Given the description of an element on the screen output the (x, y) to click on. 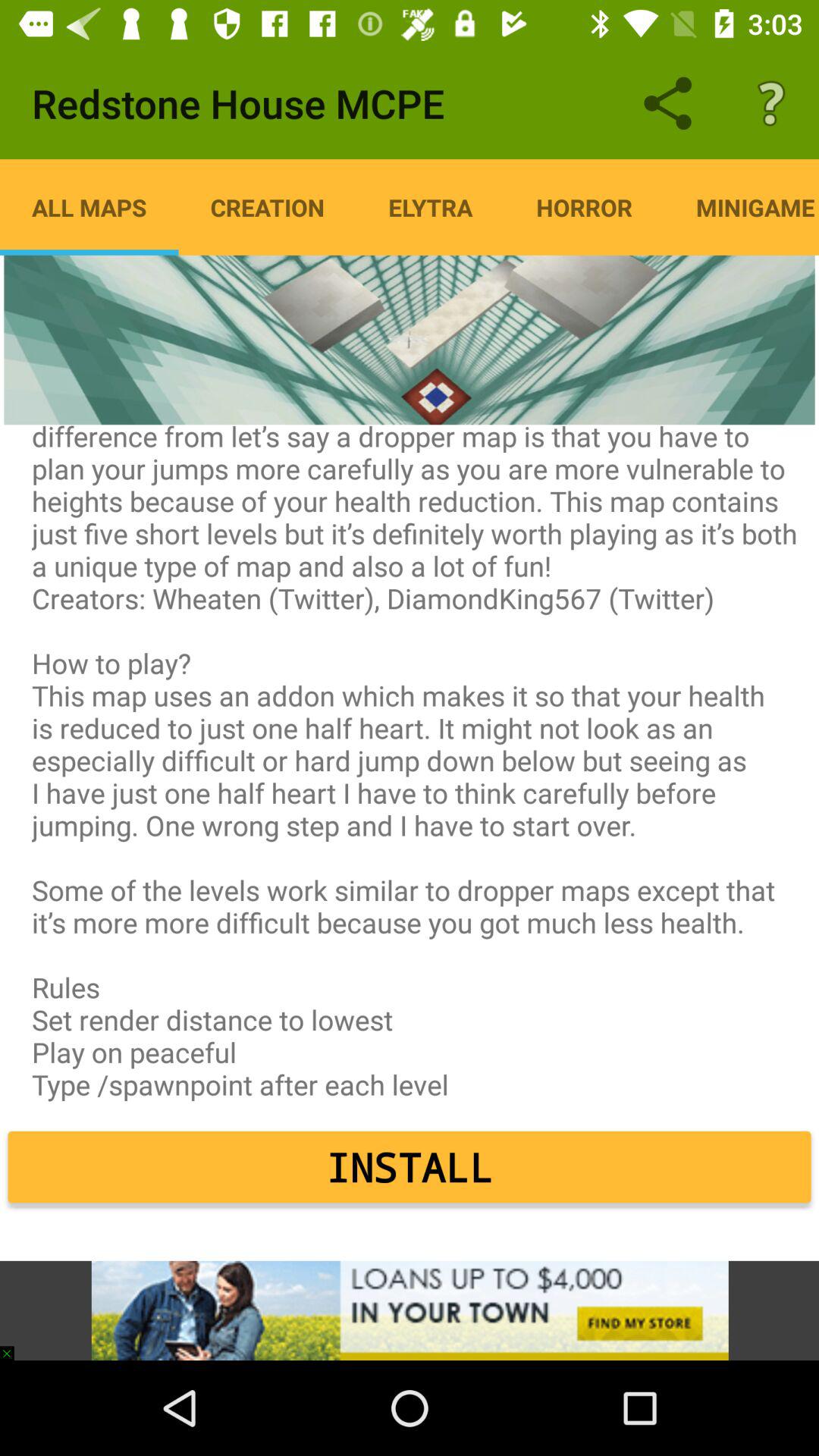
launch item above minigame app (771, 103)
